Given the description of an element on the screen output the (x, y) to click on. 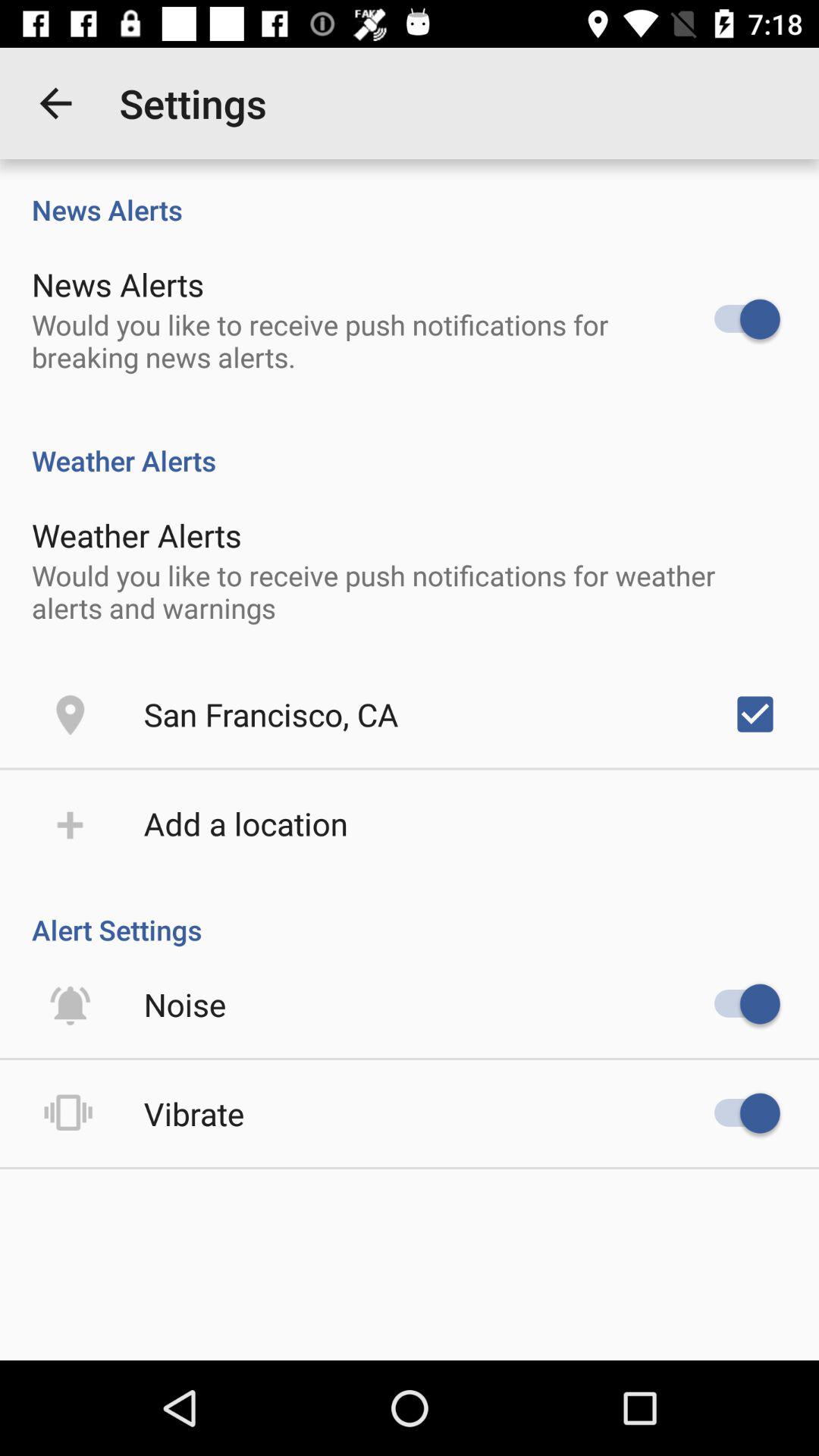
open the icon on the right (755, 714)
